Given the description of an element on the screen output the (x, y) to click on. 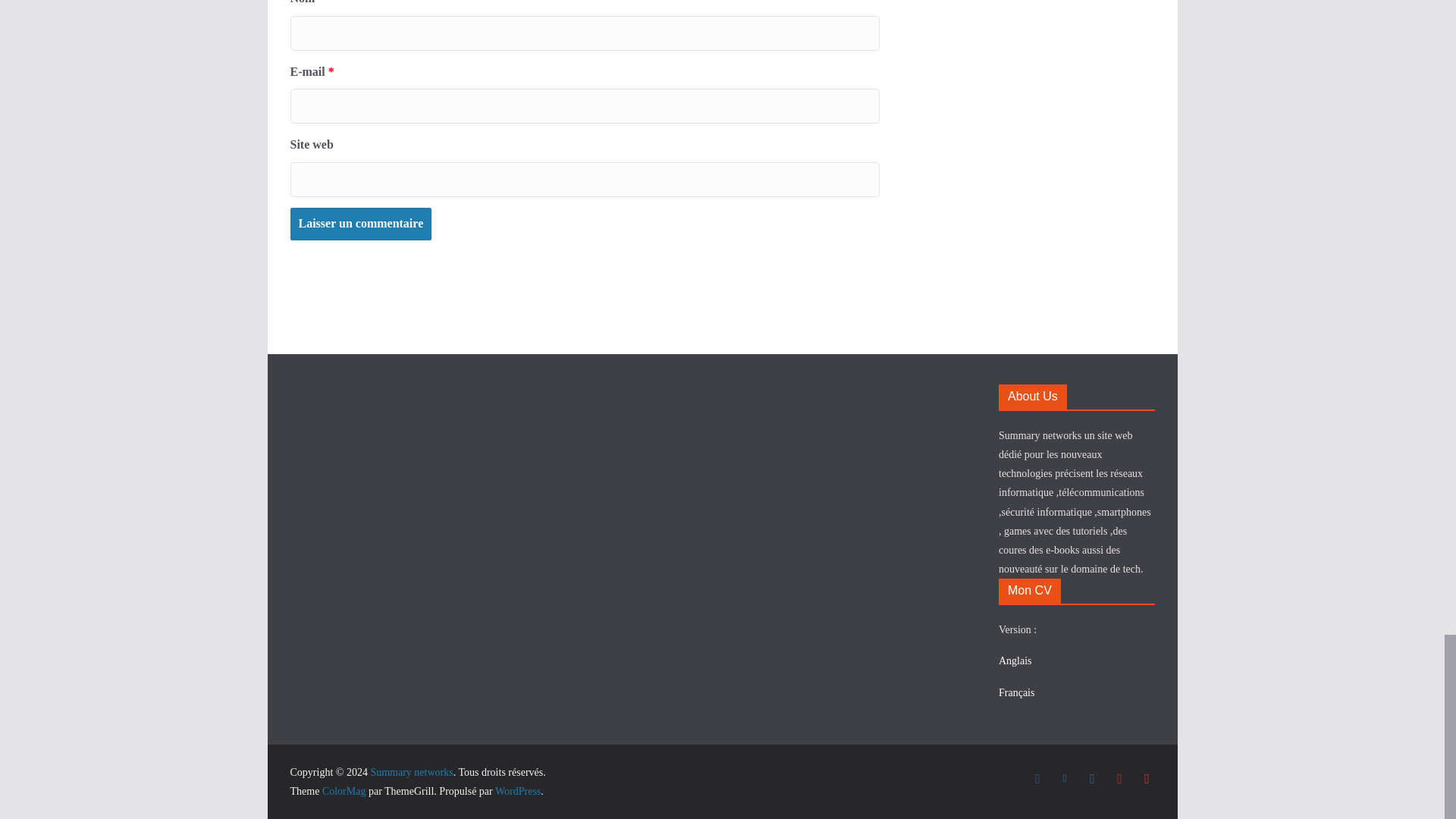
Laisser un commentaire (359, 224)
